Given the description of an element on the screen output the (x, y) to click on. 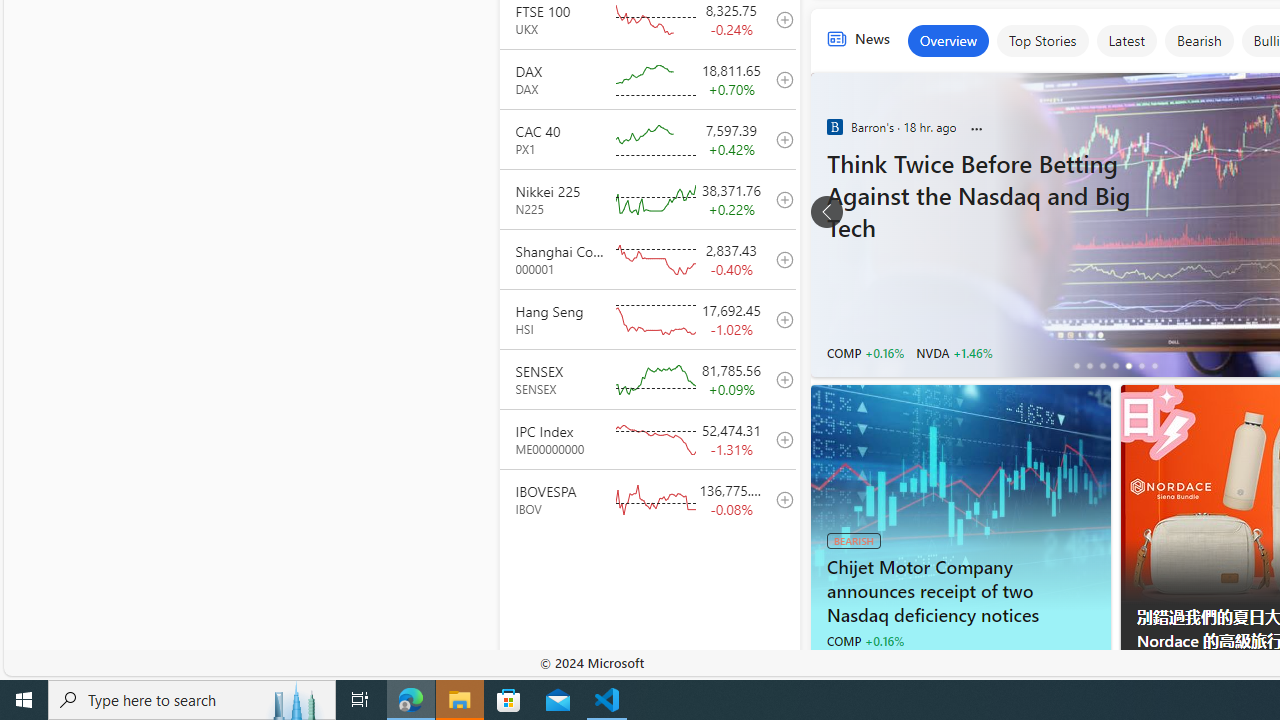
Seeking Alpha (834, 664)
Barron's (834, 126)
Latest (1126, 40)
Bearish (1198, 40)
Top Stories (1041, 40)
